Given the description of an element on the screen output the (x, y) to click on. 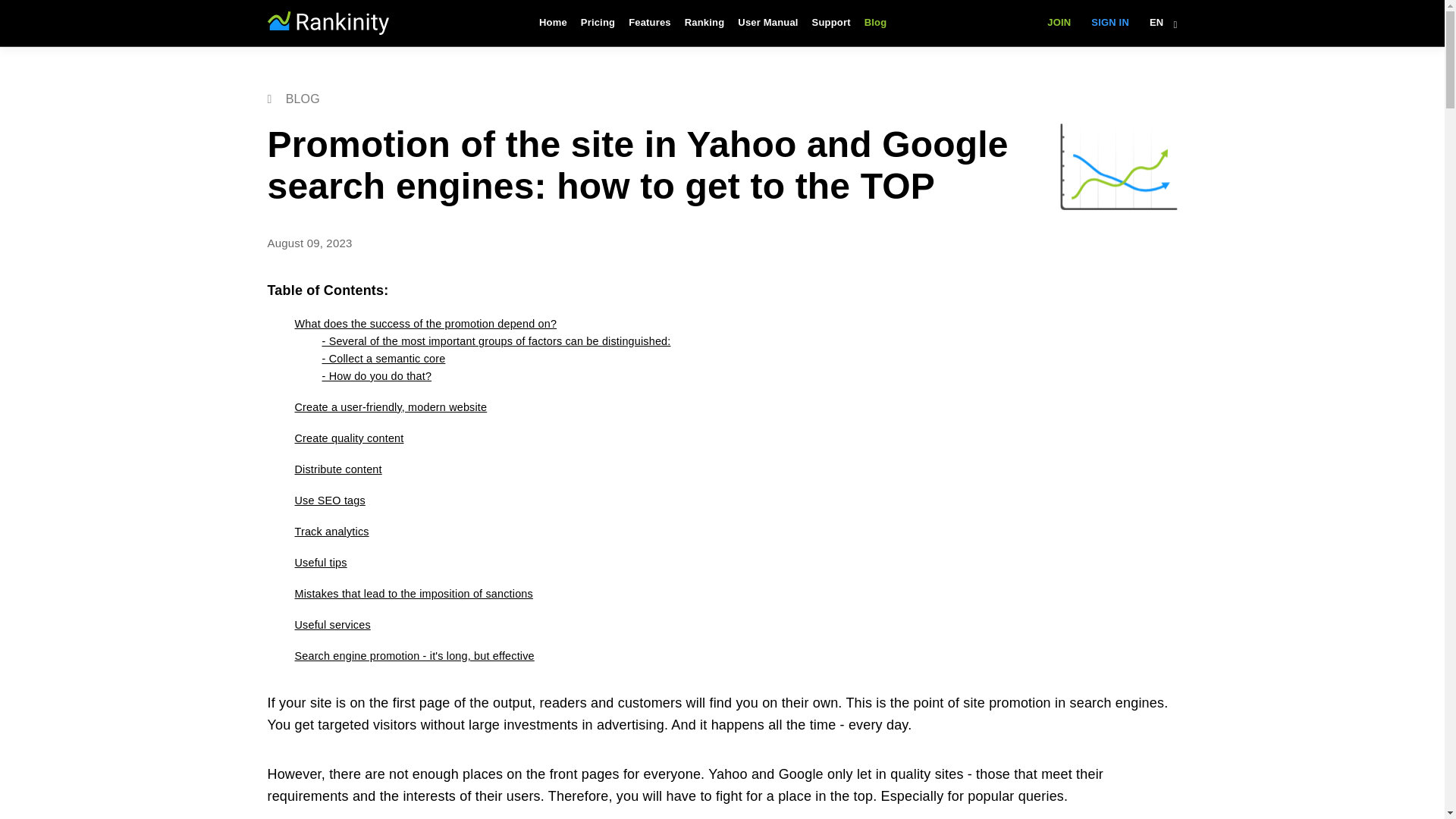
Use SEO tags (329, 500)
JOIN (1058, 22)
Home (552, 22)
Create quality content (348, 438)
Search engine promotion - it's long, but effective (414, 655)
User Manual (767, 22)
Create a user-friendly, modern website (390, 407)
Distribute content (337, 469)
Support (831, 22)
User Manual (767, 22)
